Given the description of an element on the screen output the (x, y) to click on. 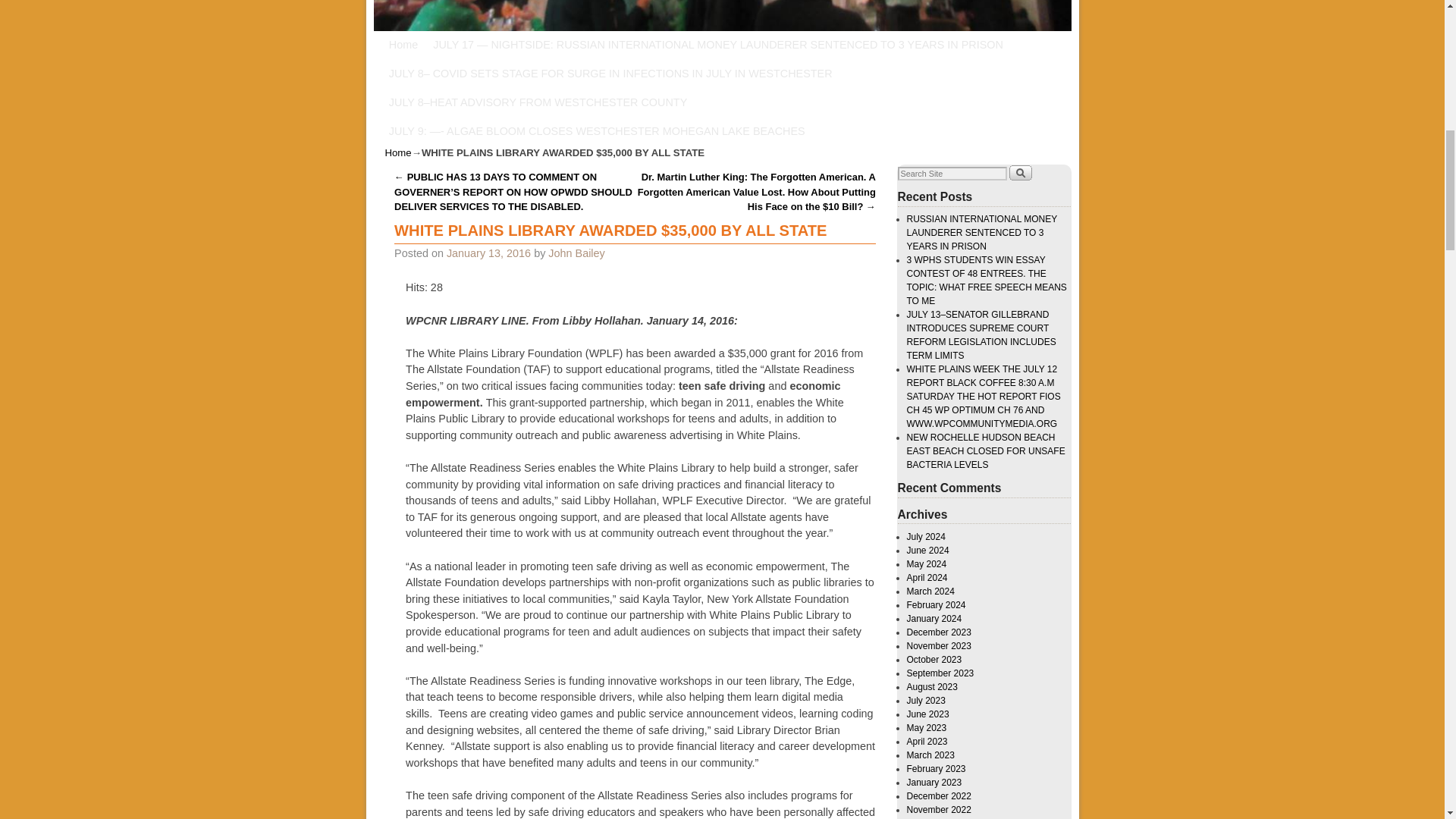
John Bailey (576, 253)
July 2023 (925, 700)
Home (398, 152)
December 2023 (939, 632)
June 2024 (928, 550)
Skip to primary content (453, 44)
November 2023 (939, 645)
January 2024 (934, 618)
September 2023 (940, 673)
August 2023 (932, 686)
May 2024 (927, 563)
View all posts by John Bailey (576, 253)
Skip to secondary content (460, 44)
